Given the description of an element on the screen output the (x, y) to click on. 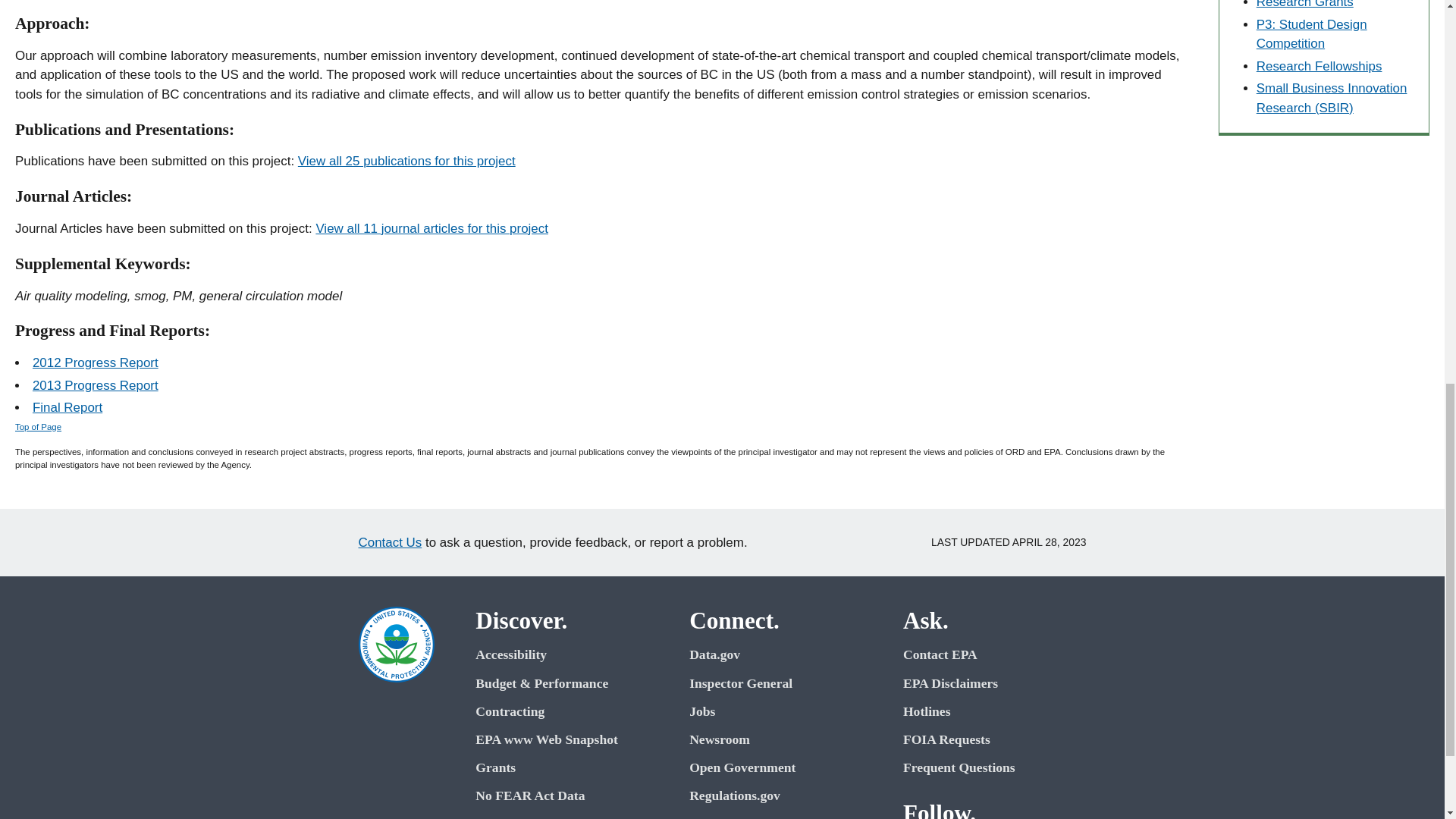
View all 11 journal articles for this project (431, 228)
View all 25 publications for this project (406, 160)
Final Report (66, 407)
Top of Page (37, 426)
2012 Progress Report (95, 362)
2013 Progress Report (95, 385)
